Given the description of an element on the screen output the (x, y) to click on. 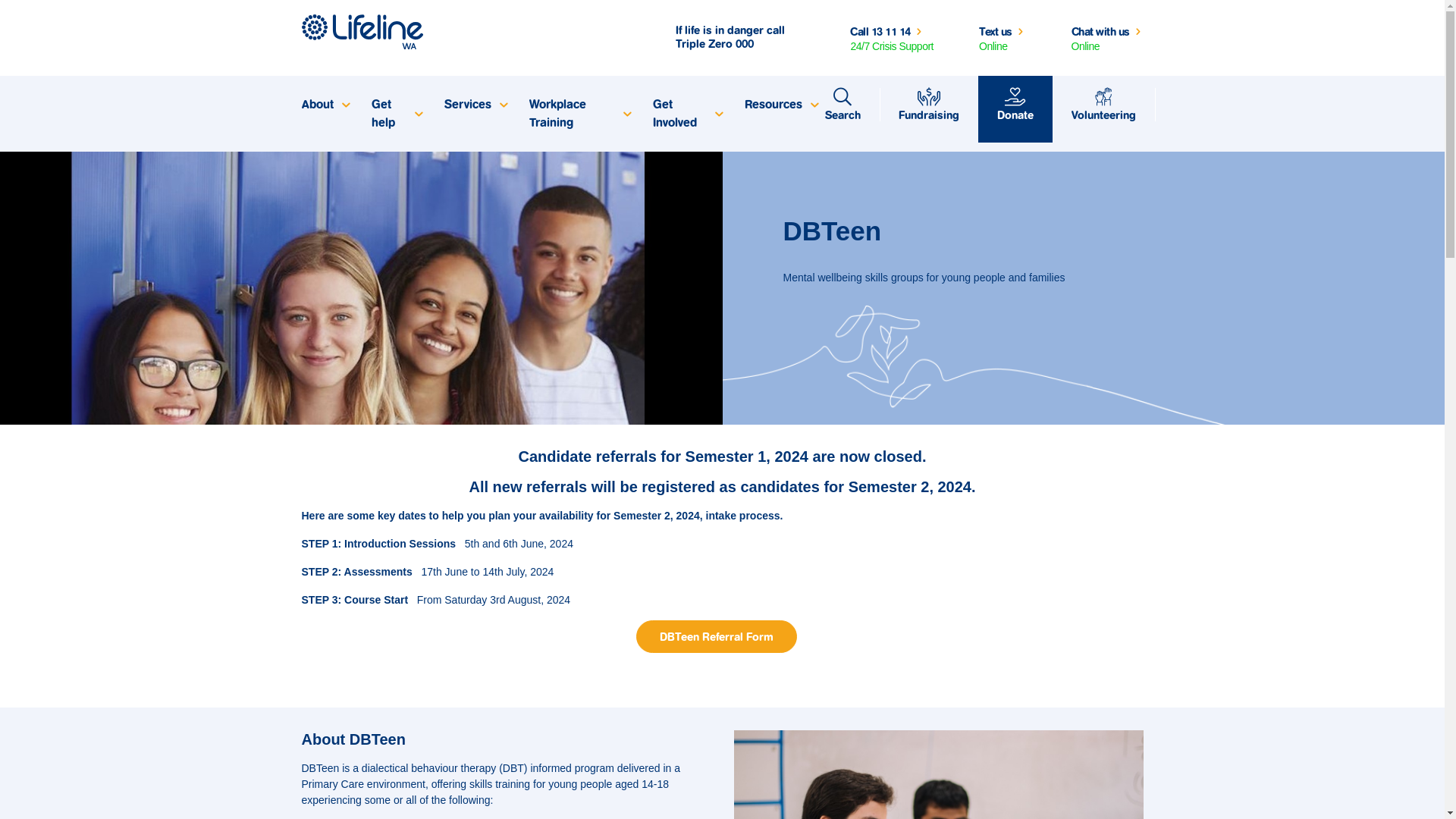
Get Involved Element type: text (686, 113)
Call 13 11 14
24/7 Crisis Support Element type: text (891, 38)
DBTeen Referral Form Element type: text (715, 636)
000 Element type: text (744, 44)
About Element type: text (324, 104)
Fundraising Element type: text (928, 104)
Services Element type: text (475, 104)
Search Element type: text (841, 104)
Donate Element type: text (1015, 104)
Volunteering Element type: text (1103, 104)
Resources Element type: text (780, 104)
Get help Element type: text (396, 113)
Chat with us
Online Element type: text (1106, 38)
Workplace Training Element type: text (579, 113)
Text us
Online Element type: text (1002, 38)
